Given the description of an element on the screen output the (x, y) to click on. 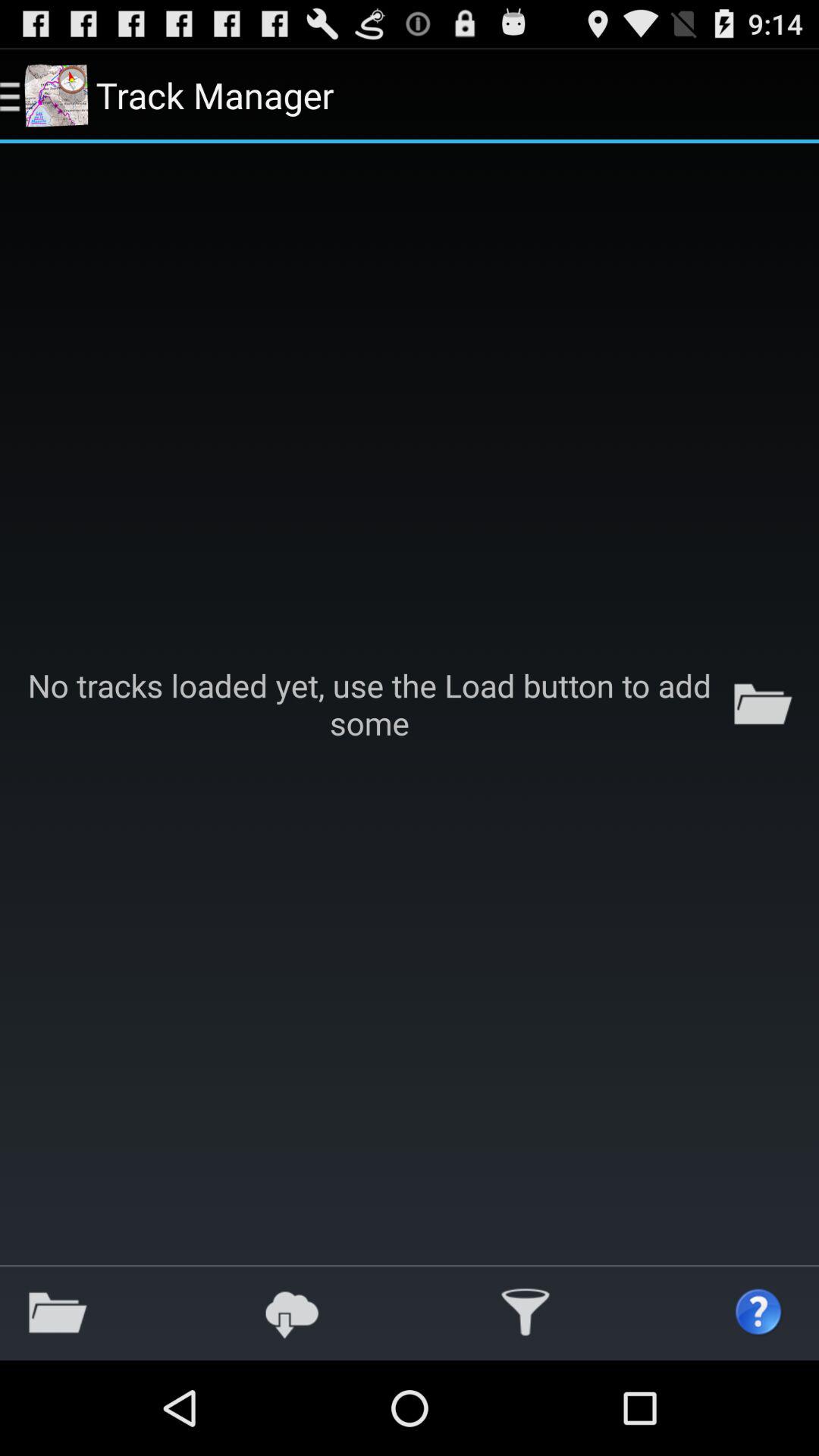
scroll to the no tracks loaded icon (409, 703)
